Given the description of an element on the screen output the (x, y) to click on. 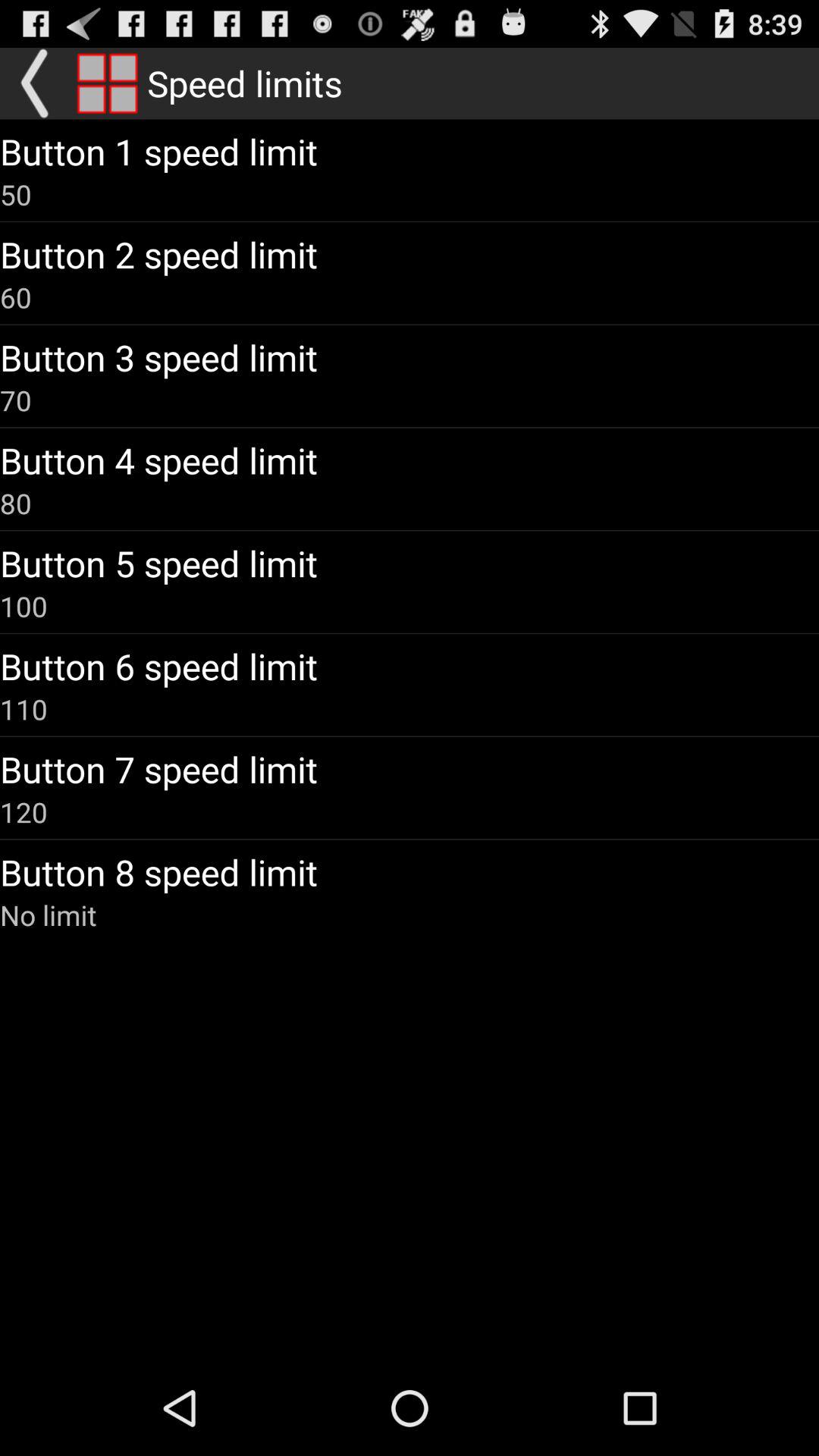
tap the icon below button 5 speed app (23, 606)
